Given the description of an element on the screen output the (x, y) to click on. 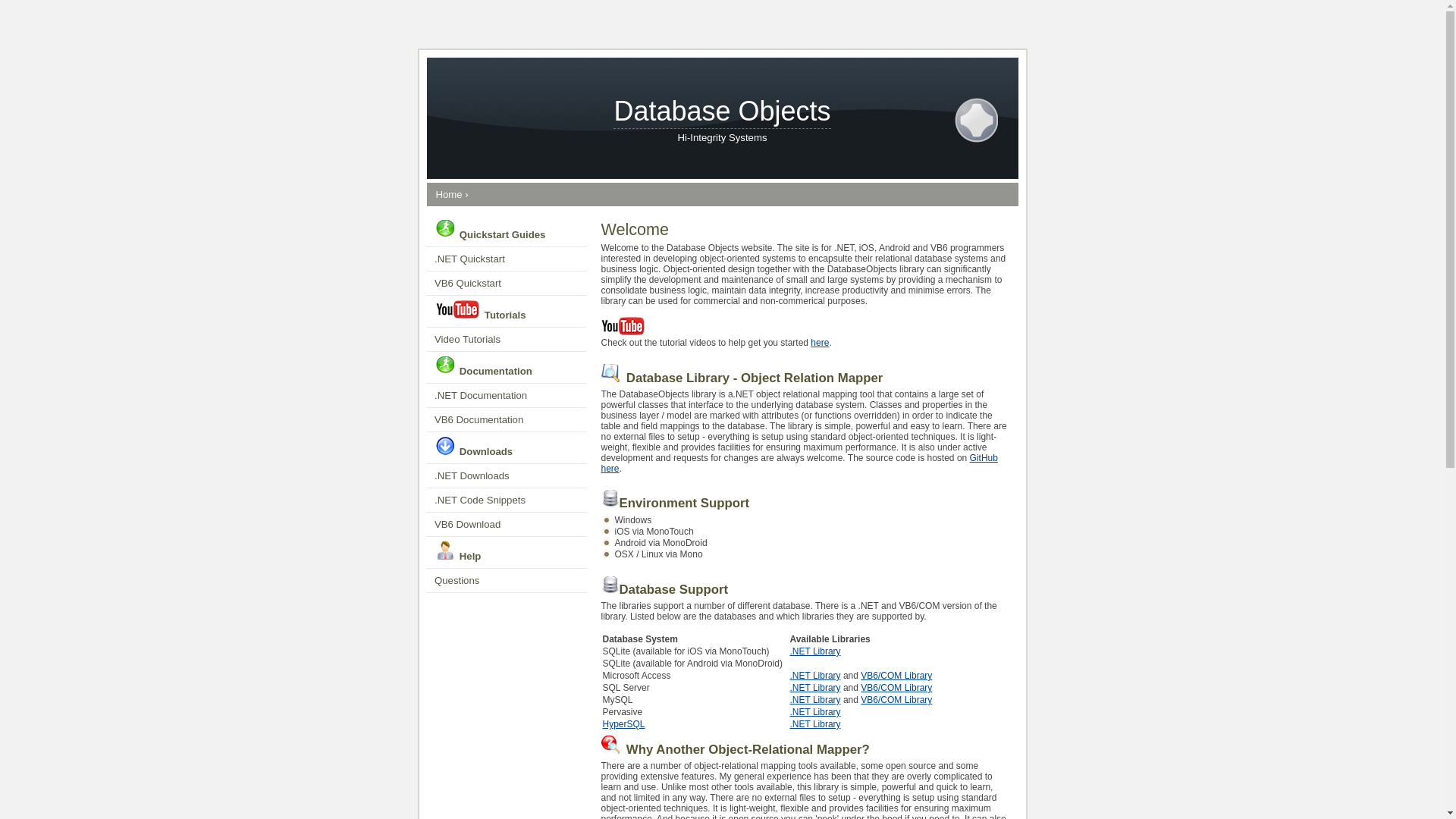
.NET Library Element type: text (814, 687)
VB6 Documentation Element type: text (505, 419)
HyperSQL Element type: text (623, 723)
.NET Library Element type: text (814, 723)
Video Tutorials Element type: text (505, 339)
.NET Library Element type: text (814, 675)
Database Objects Element type: text (721, 111)
GitHub here Element type: text (798, 462)
.NET Quickstart Element type: text (505, 258)
.NET Code Snippets Element type: text (505, 499)
VB6/COM Library Element type: text (895, 699)
Questions Element type: text (505, 580)
Home Element type: text (448, 194)
.NET Documentation Element type: text (505, 395)
.NET Library Element type: text (814, 711)
.NET Library Element type: text (814, 651)
.NET Library Element type: text (814, 699)
VB6 Quickstart Element type: text (505, 282)
VB6/COM Library Element type: text (895, 675)
.NET Downloads Element type: text (505, 475)
VB6/COM Library Element type: text (895, 687)
here Element type: text (819, 342)
VB6 Download Element type: text (505, 524)
